Given the description of an element on the screen output the (x, y) to click on. 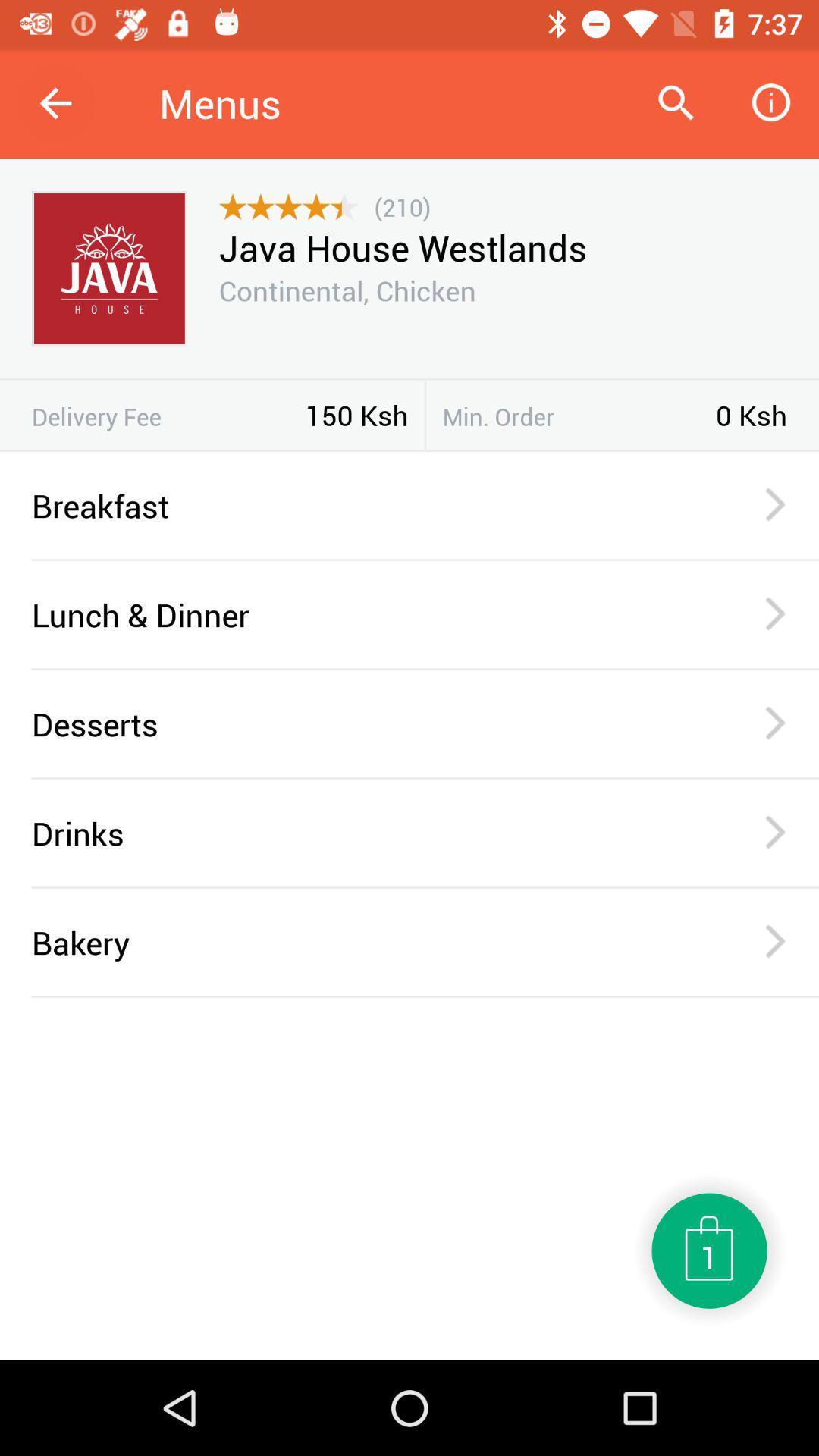
launch icon above the bakery icon (425, 887)
